Given the description of an element on the screen output the (x, y) to click on. 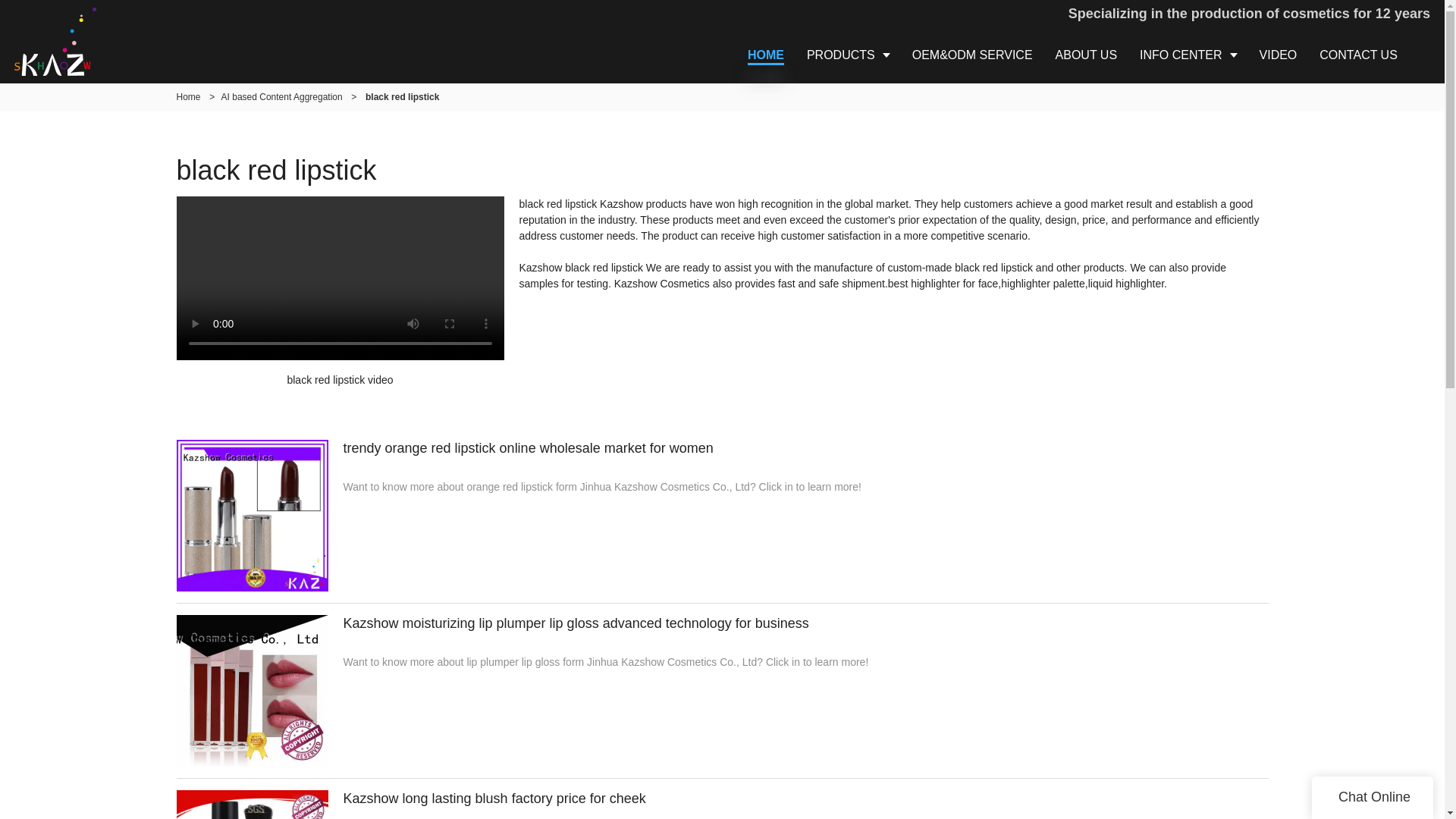
CONTACT US (1358, 55)
ABOUT US (1086, 55)
AI based Content Aggregation (281, 96)
VIDEO (1277, 55)
INFO CENTER (1187, 55)
HOME (765, 55)
Home (188, 96)
PRODUCTS (847, 55)
